Given the description of an element on the screen output the (x, y) to click on. 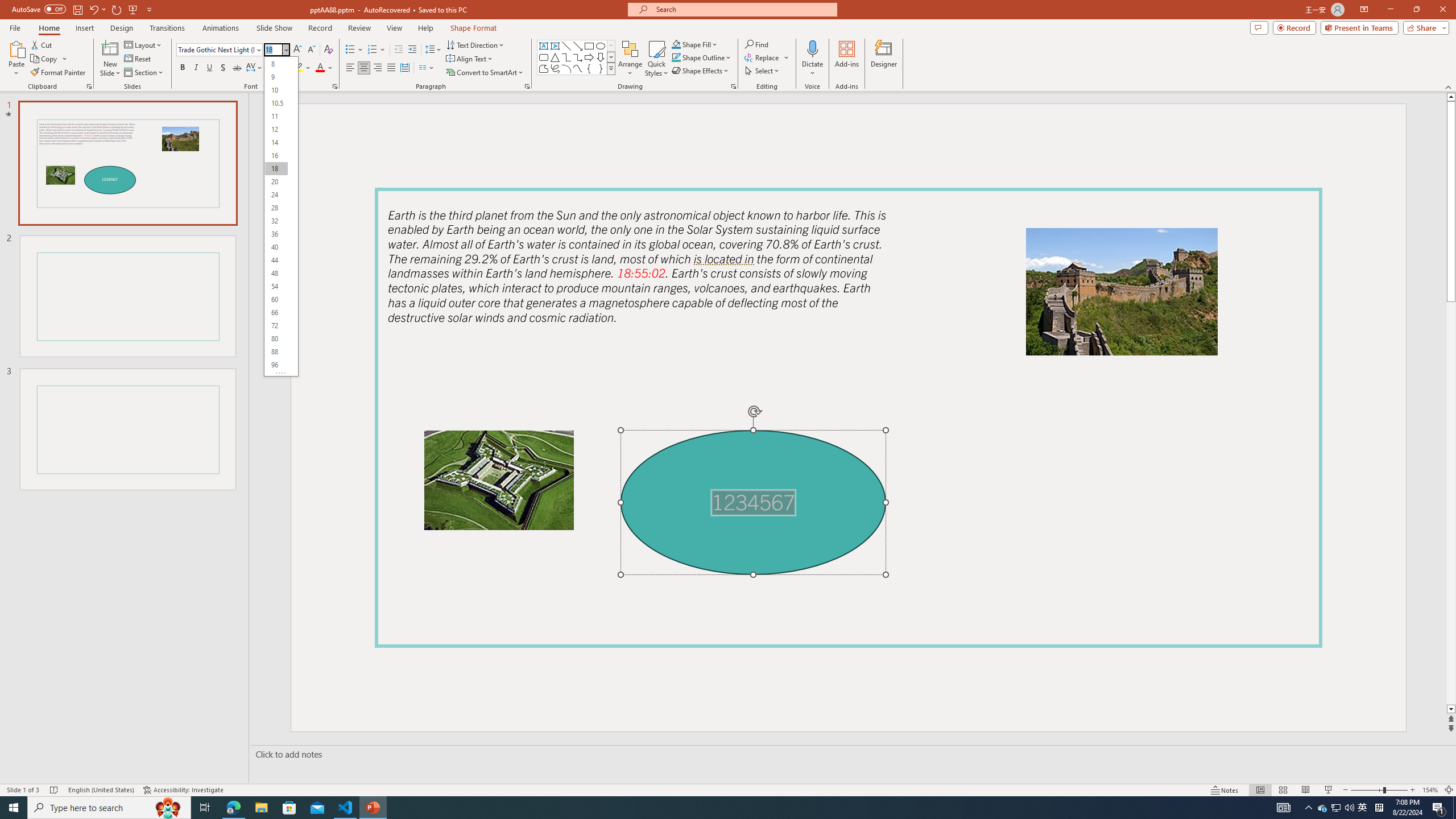
16 (276, 155)
11 (276, 115)
